Given the description of an element on the screen output the (x, y) to click on. 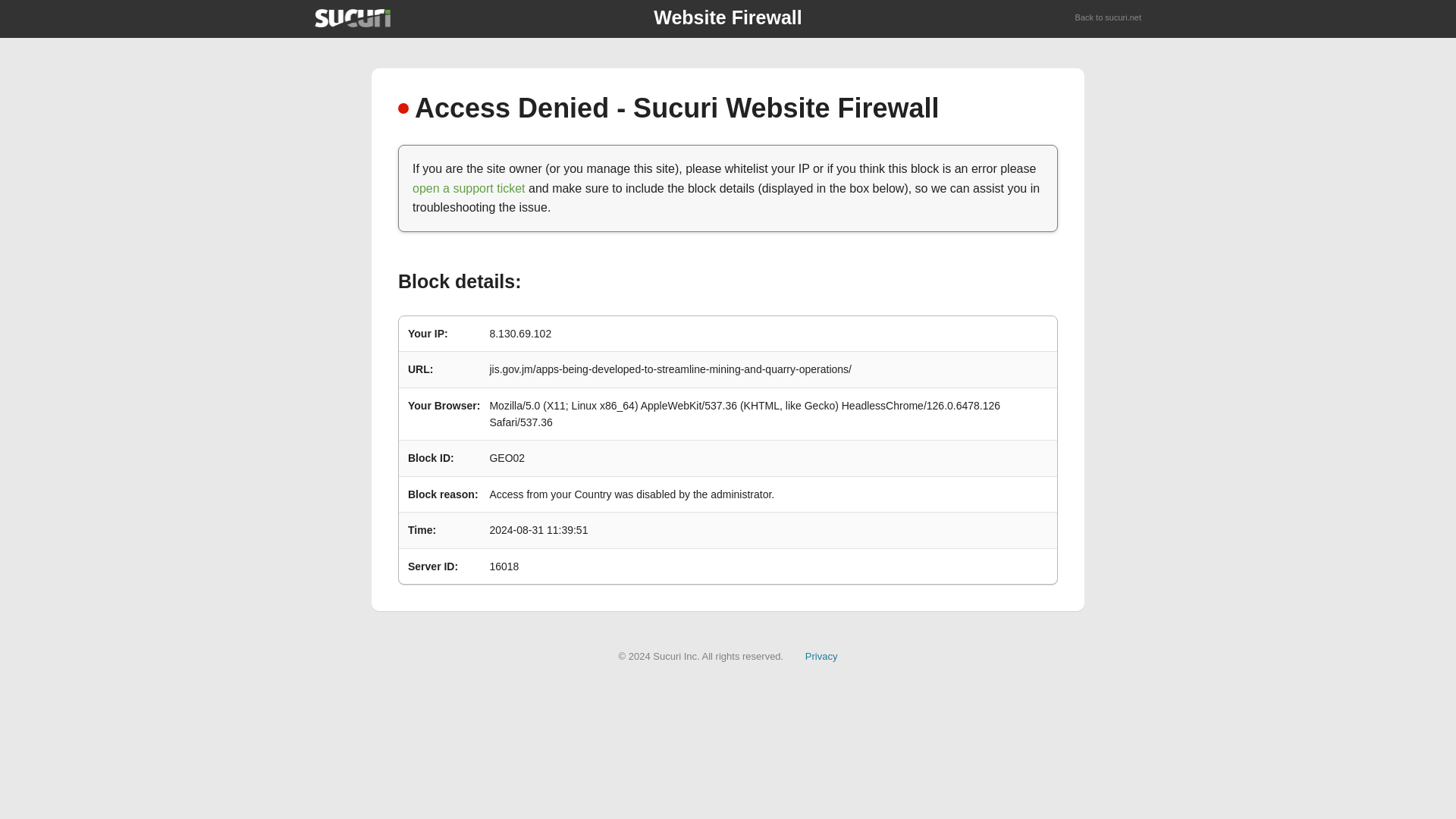
open a support ticket (468, 187)
Privacy (821, 655)
Back to sucuri.net (1108, 18)
